Given the description of an element on the screen output the (x, y) to click on. 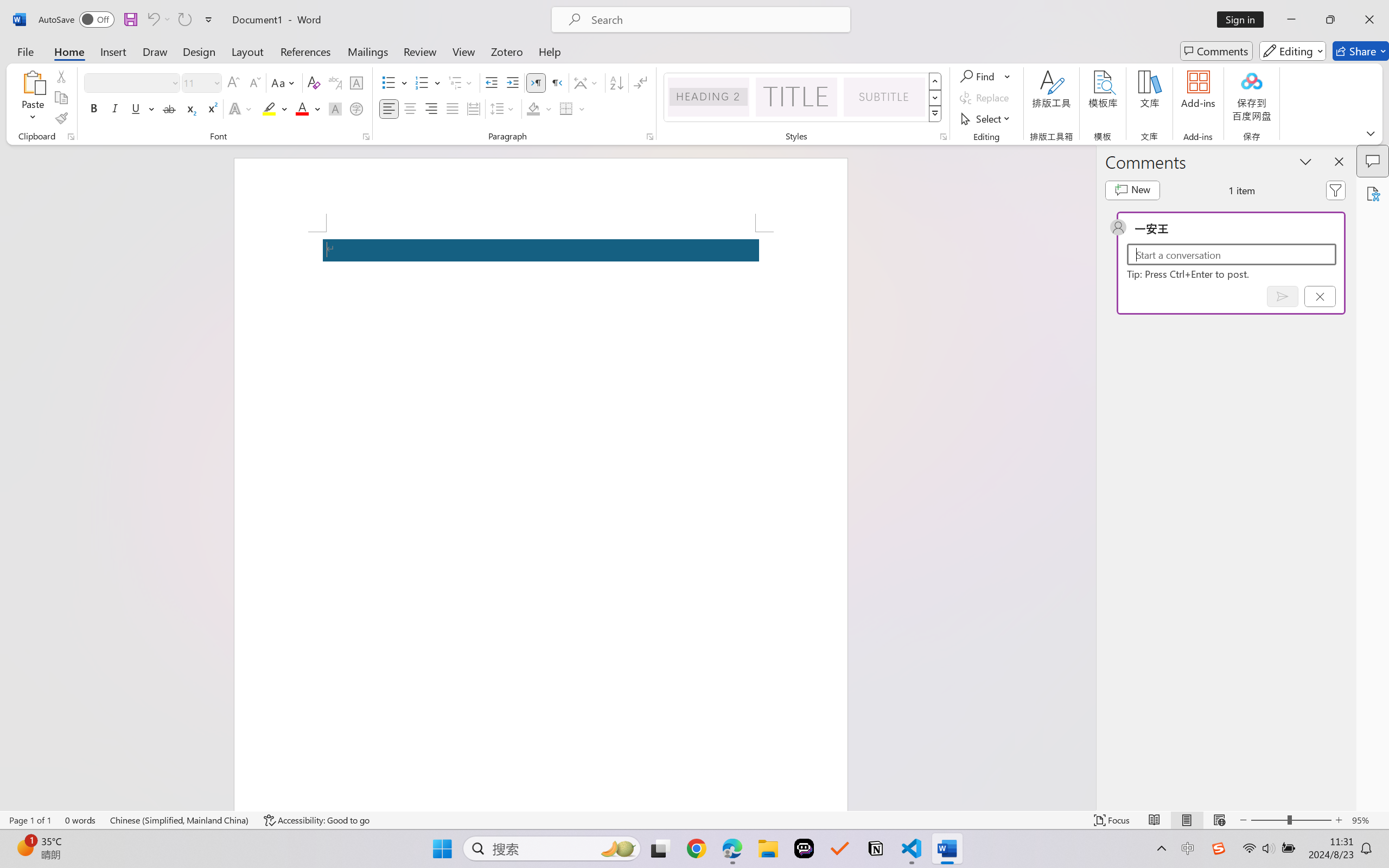
Filter (1335, 190)
Undo Apply Quick Style Set (152, 19)
